Given the description of an element on the screen output the (x, y) to click on. 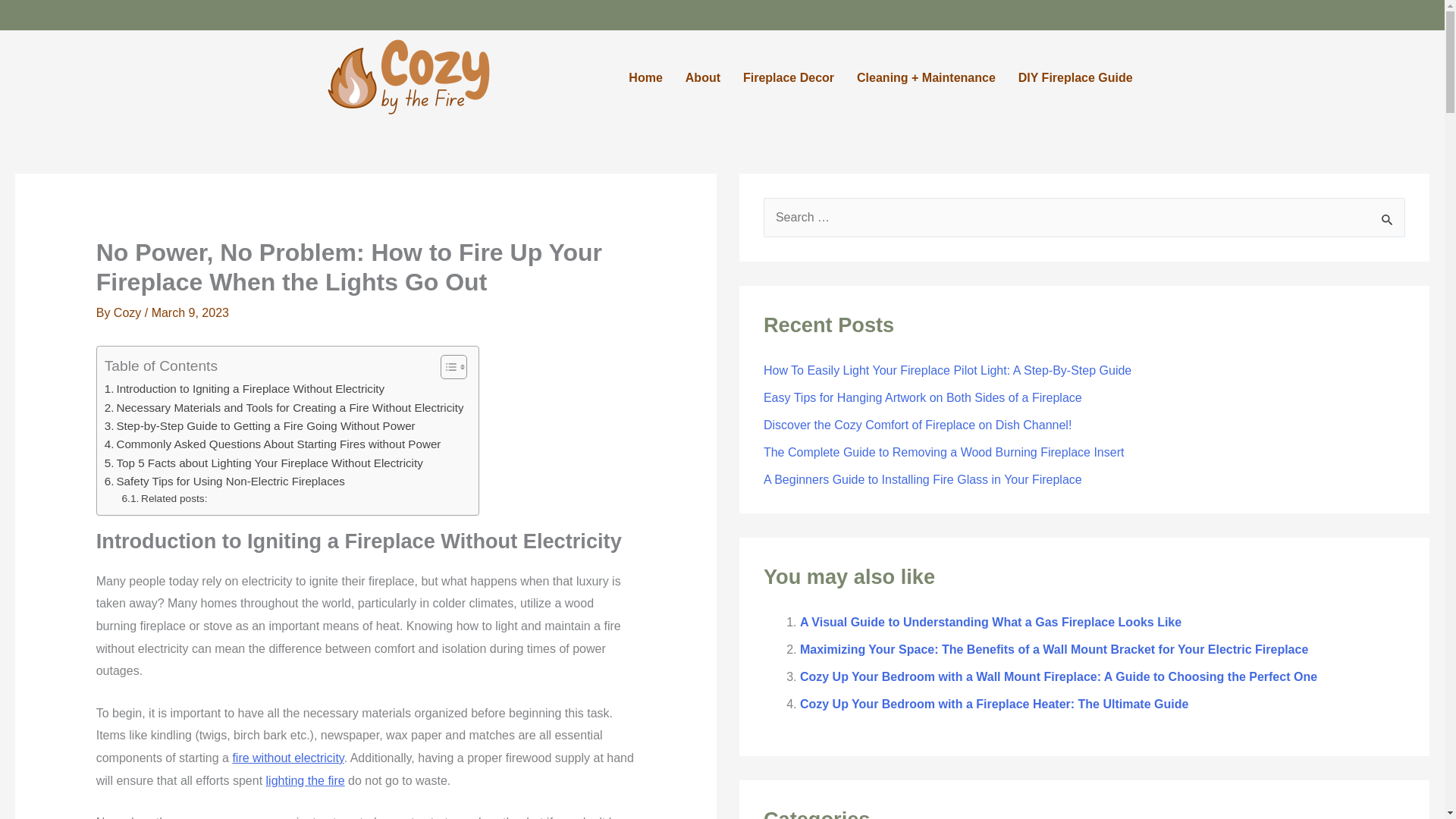
Introduction to Igniting a Fireplace Without Electricity (244, 389)
About (703, 77)
Related posts: (165, 498)
Step-by-Step Guide to Getting a Fire Going Without Power (259, 425)
View all posts by Cozy (128, 312)
Safety Tips for Using Non-Electric Fireplaces (224, 481)
DIY Fireplace Guide (1075, 77)
Safety Tips for Using Non-Electric Fireplaces (224, 481)
Fireplace Decor (788, 77)
Related posts: (165, 498)
Introduction to Igniting a Fireplace Without Electricity (244, 389)
